Given the description of an element on the screen output the (x, y) to click on. 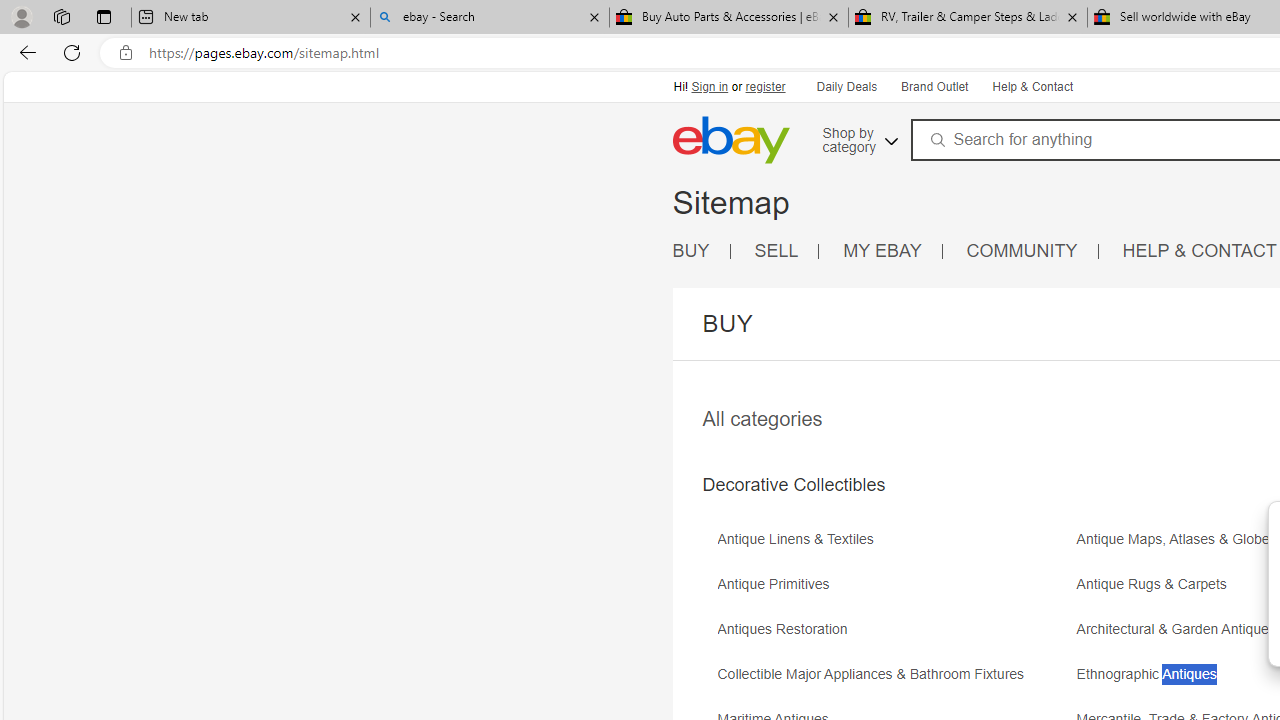
register (764, 86)
Collectible Major Appliances & Bathroom Fixtures (875, 673)
HELP & CONTACT (1199, 251)
Antique Linens & Textiles (894, 546)
Antiques Restoration (894, 636)
Antique Primitives (894, 591)
MY EBAY (893, 251)
Collectible Major Appliances & Bathroom Fixtures (894, 681)
